Given the description of an element on the screen output the (x, y) to click on. 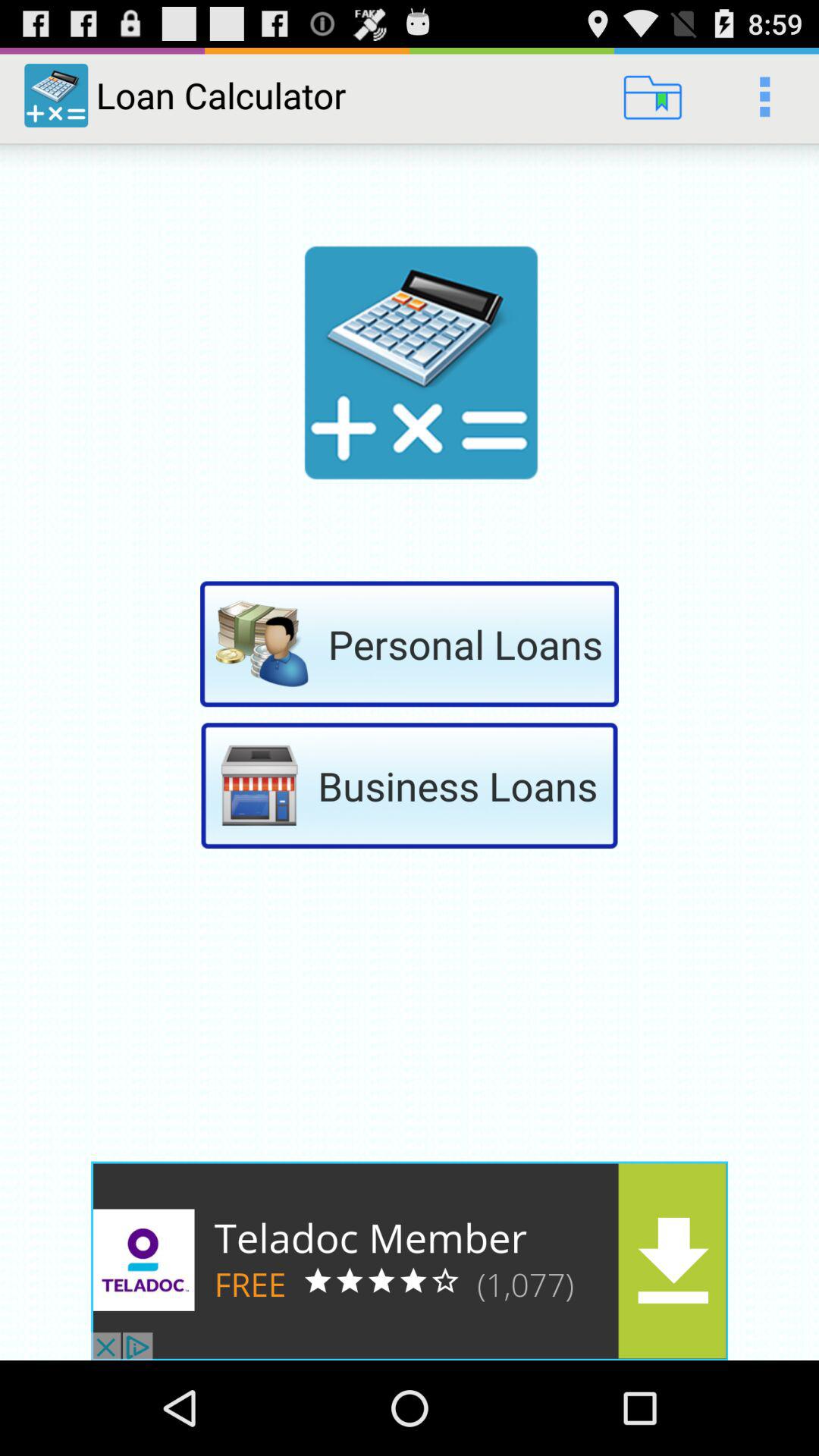
advertisement bar (409, 1260)
